Given the description of an element on the screen output the (x, y) to click on. 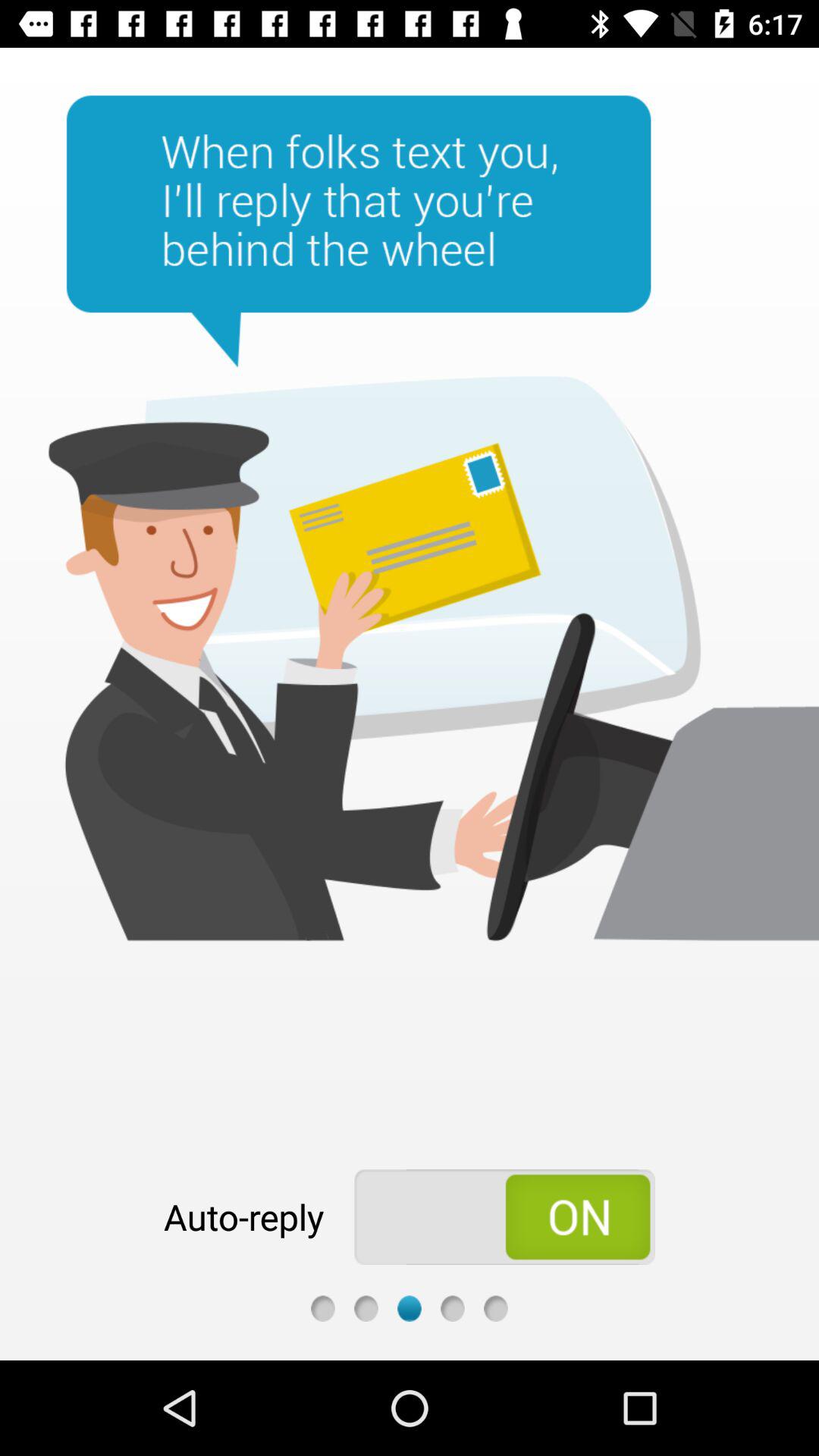
the radio button included the information is on or off (504, 1216)
